Given the description of an element on the screen output the (x, y) to click on. 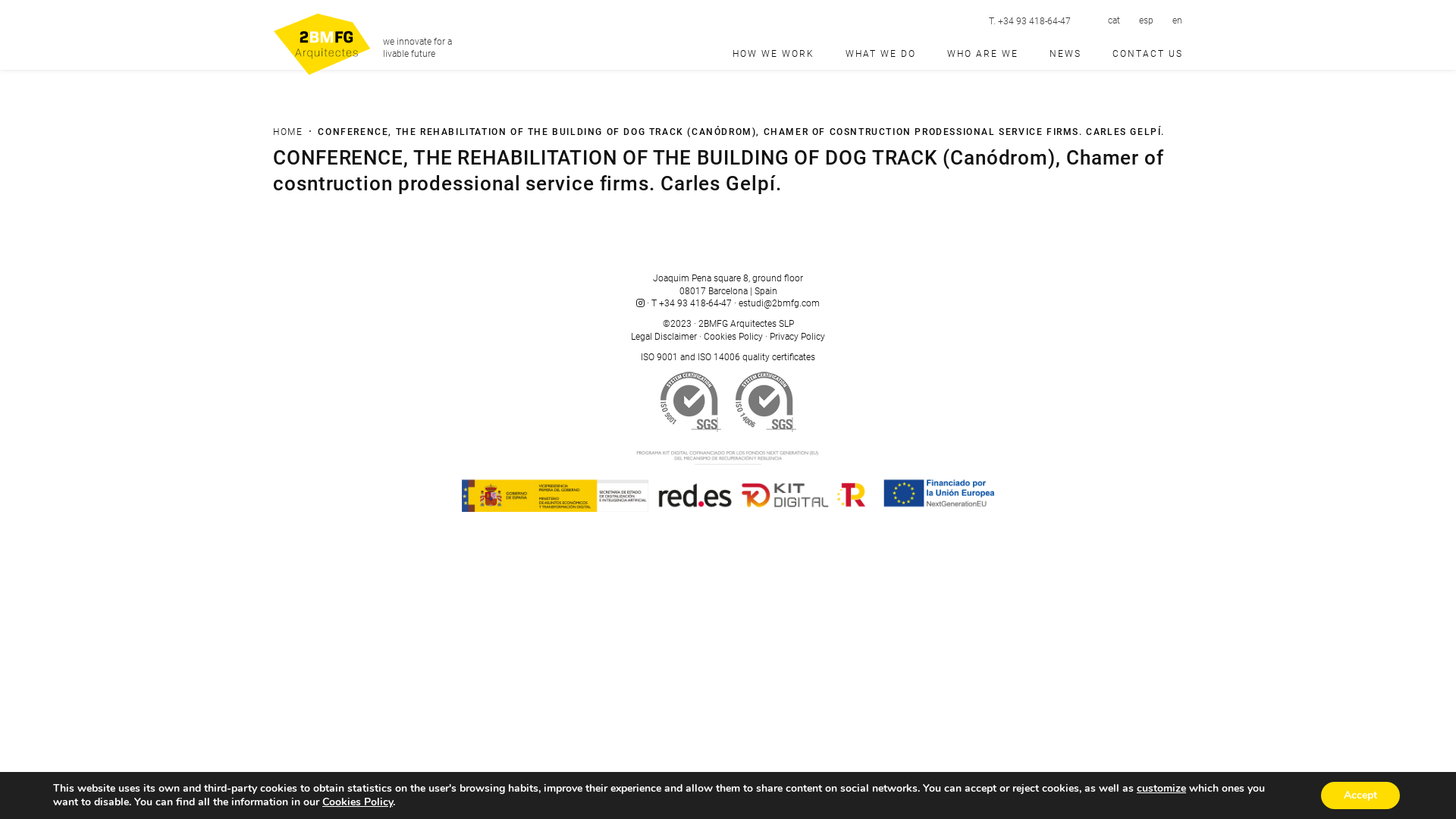
Accept Element type: text (1360, 795)
WHAT WE DO Element type: text (880, 53)
WHO ARE WE Element type: text (982, 53)
NEWS Element type: text (1065, 53)
Cookies Policy Element type: text (732, 336)
esp Element type: text (1146, 20)
Privacy Policy Element type: text (797, 336)
HOW WE WORK Element type: text (773, 53)
en Element type: text (1177, 20)
cat Element type: text (1113, 20)
HOME Element type: text (287, 131)
Legal Disclaimer Element type: text (663, 336)
CONTACT US Element type: text (1142, 53)
customize Element type: text (1161, 788)
Cookies Policy Element type: text (357, 801)
